Given the description of an element on the screen output the (x, y) to click on. 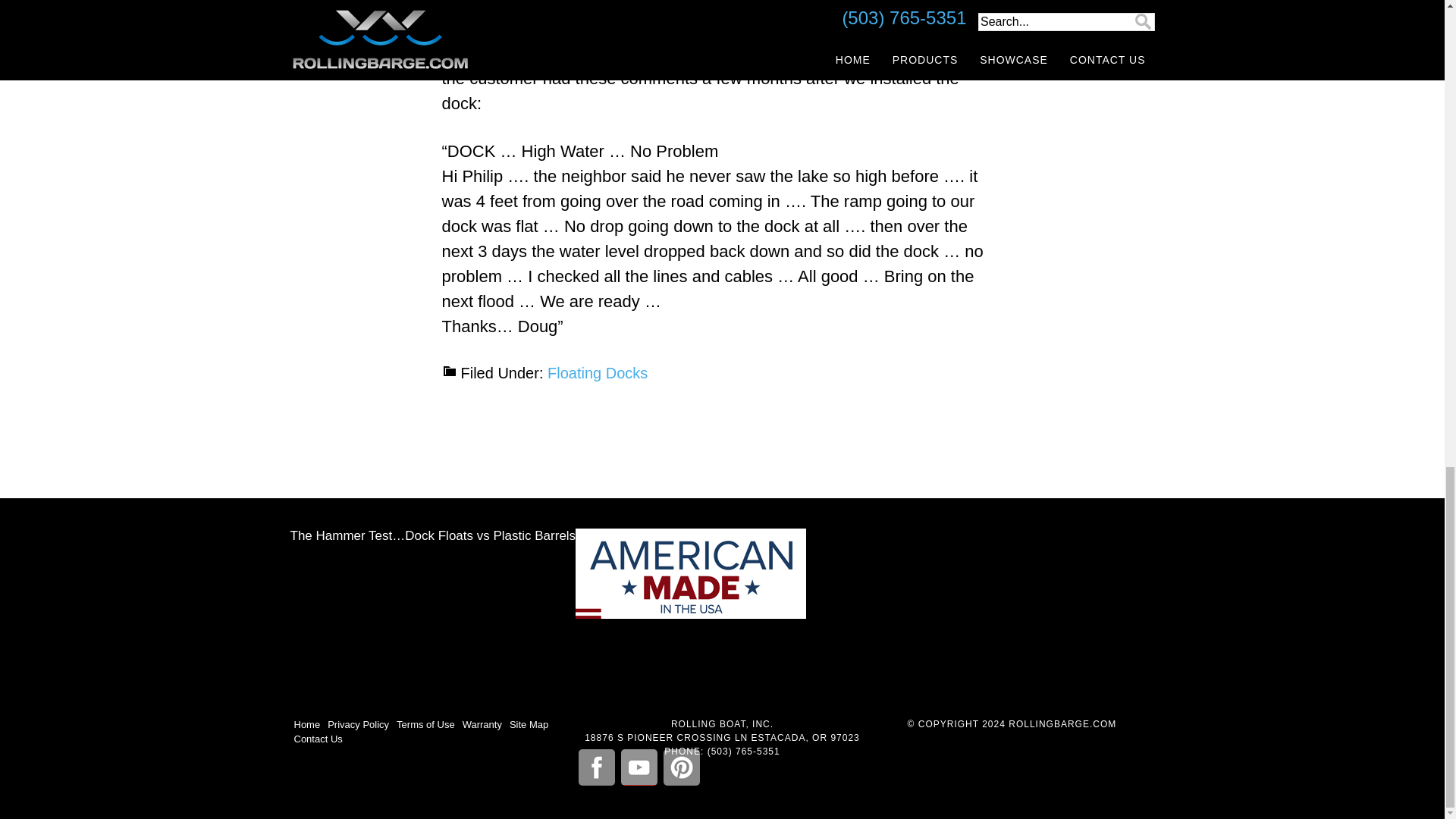
Warranty (482, 724)
Contact Us (318, 738)
Home (307, 724)
Site Map (528, 724)
Floating Docks (597, 372)
Terms of Use (425, 724)
Privacy Policy (357, 724)
